Given the description of an element on the screen output the (x, y) to click on. 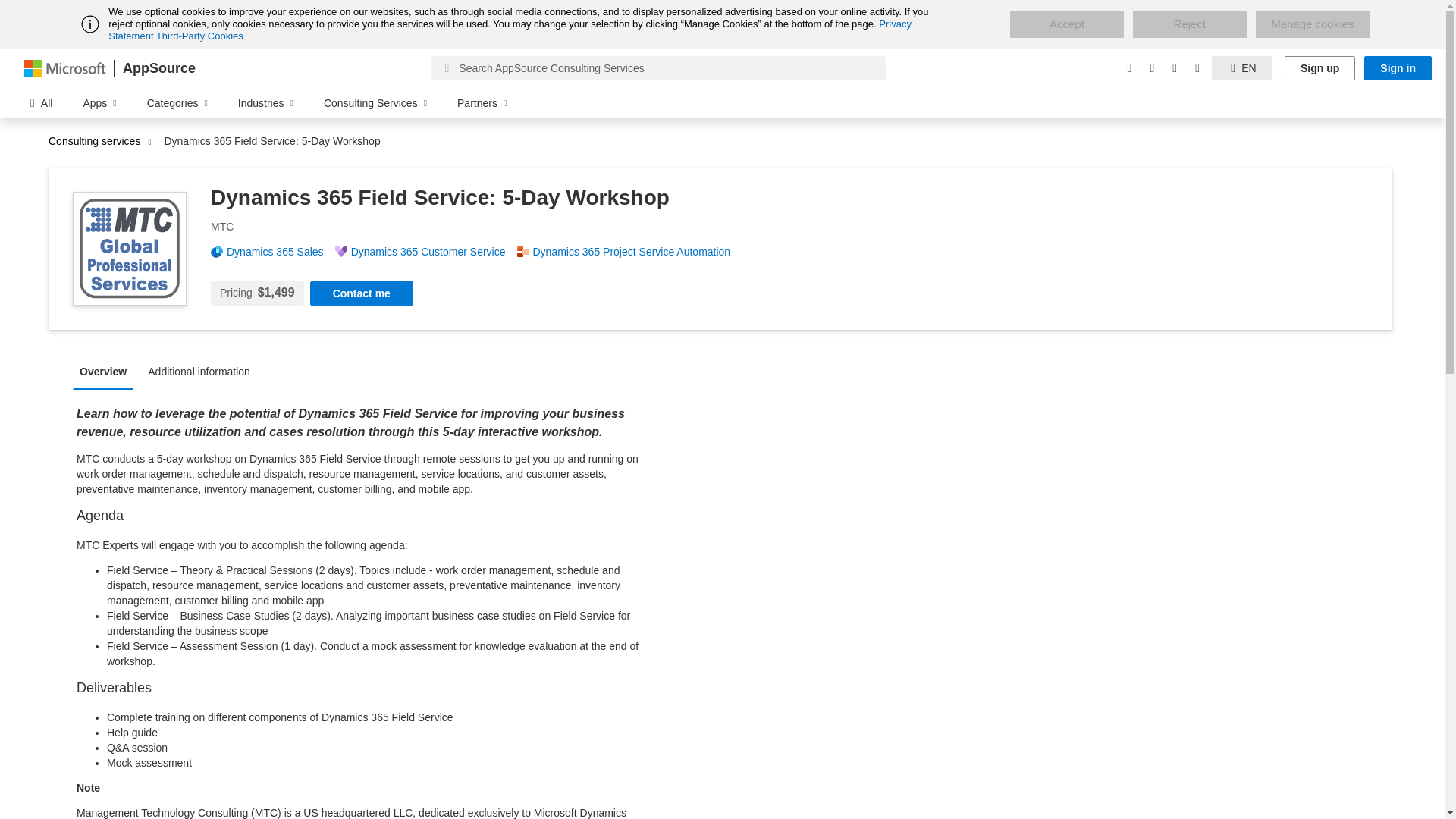
Additional information (202, 370)
Sign up (1319, 68)
Dynamics 365 Project Service Automation (636, 251)
Dynamics 365 Project Service Automation (636, 251)
Dynamics 365 Customer Service (433, 251)
Contact me (361, 293)
Accept (1067, 23)
Dynamics 365 Customer Service (433, 251)
Reject (1189, 23)
Privacy Statement (509, 29)
